Given the description of an element on the screen output the (x, y) to click on. 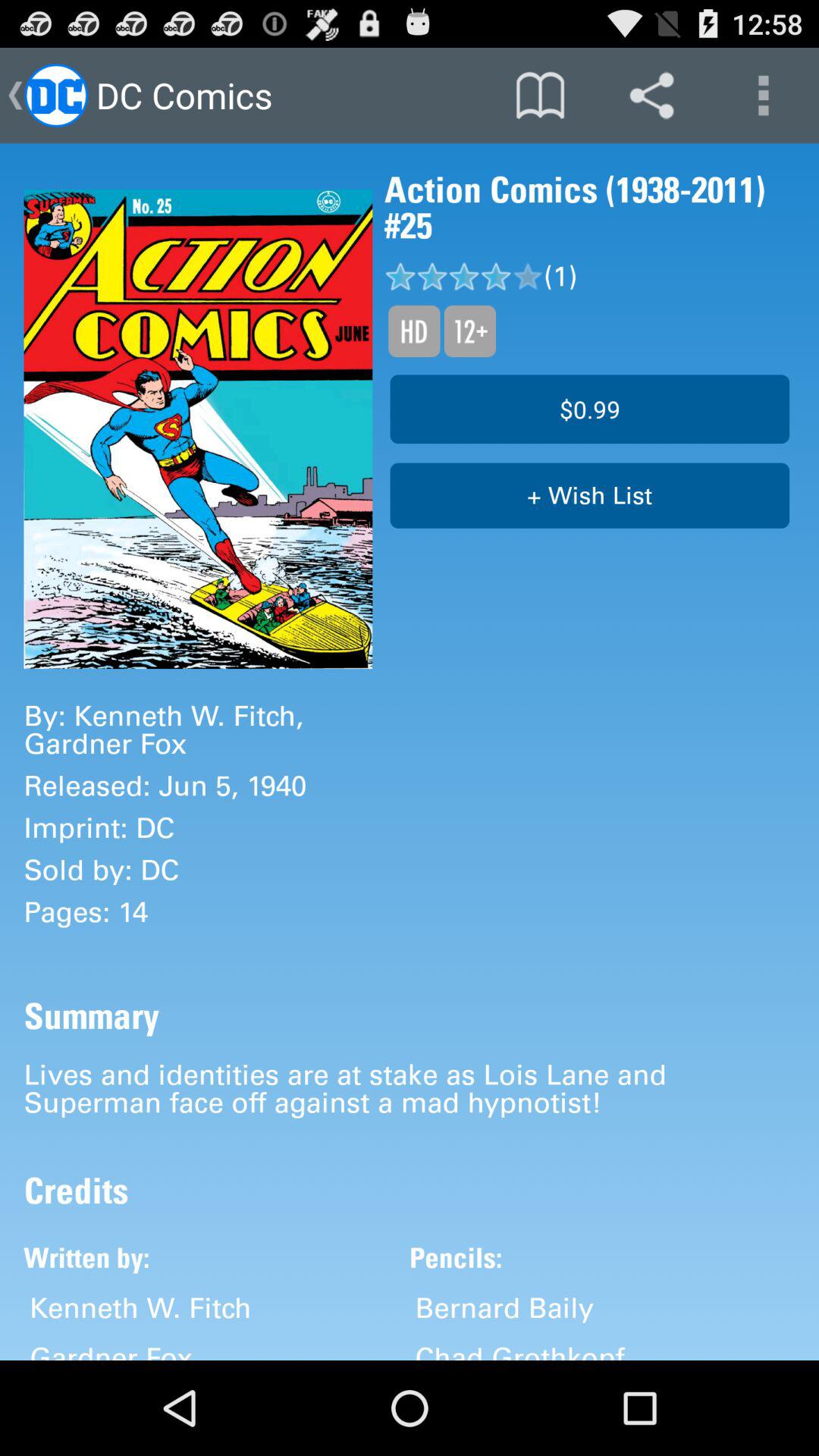
swipe to bernard baily (504, 1308)
